Given the description of an element on the screen output the (x, y) to click on. 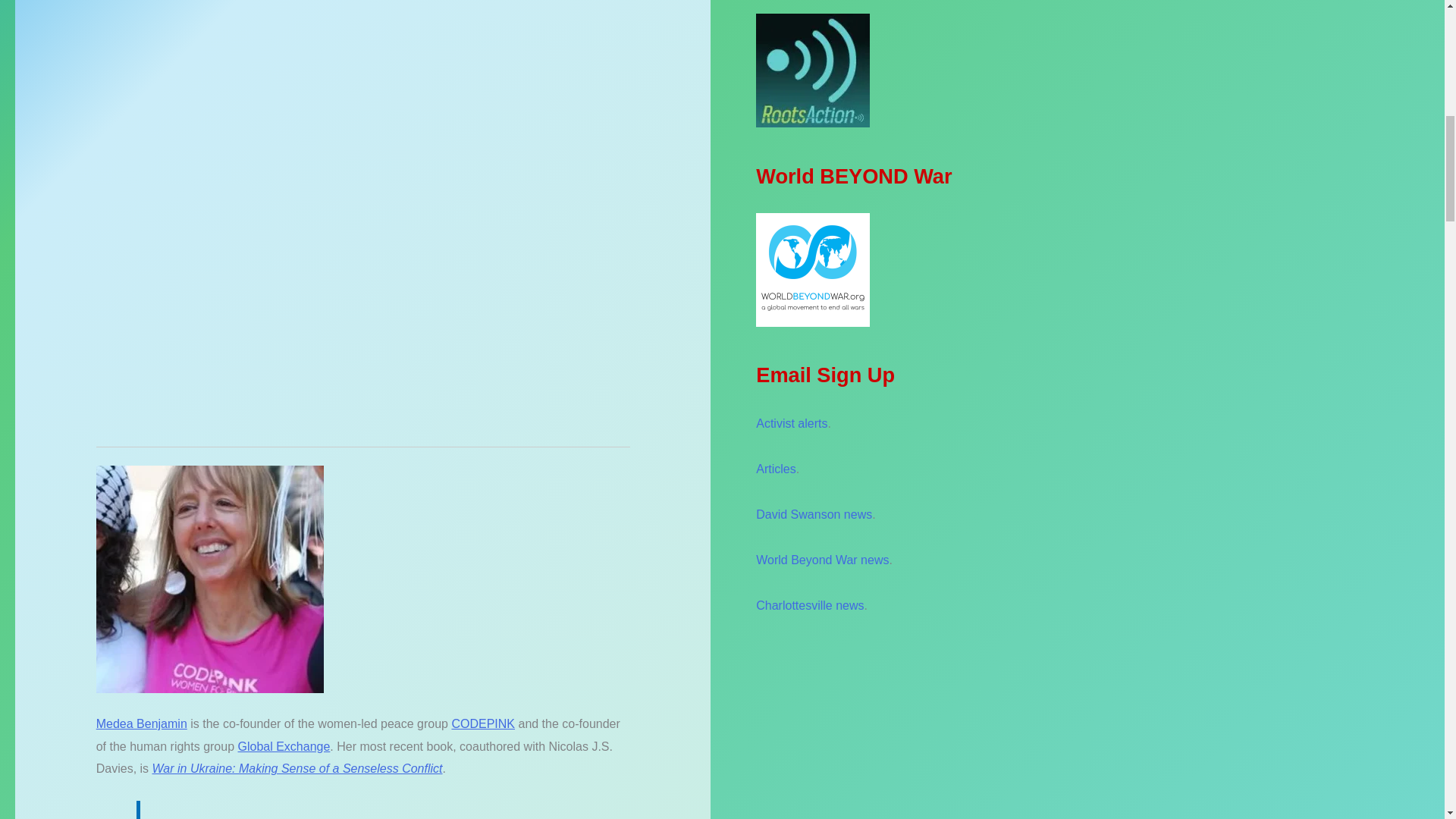
CODEPINK (483, 723)
War in Ukraine: Making Sense of a Senseless Conflict (297, 768)
Global Exchange (284, 746)
Medea Benjamin (141, 723)
